Given the description of an element on the screen output the (x, y) to click on. 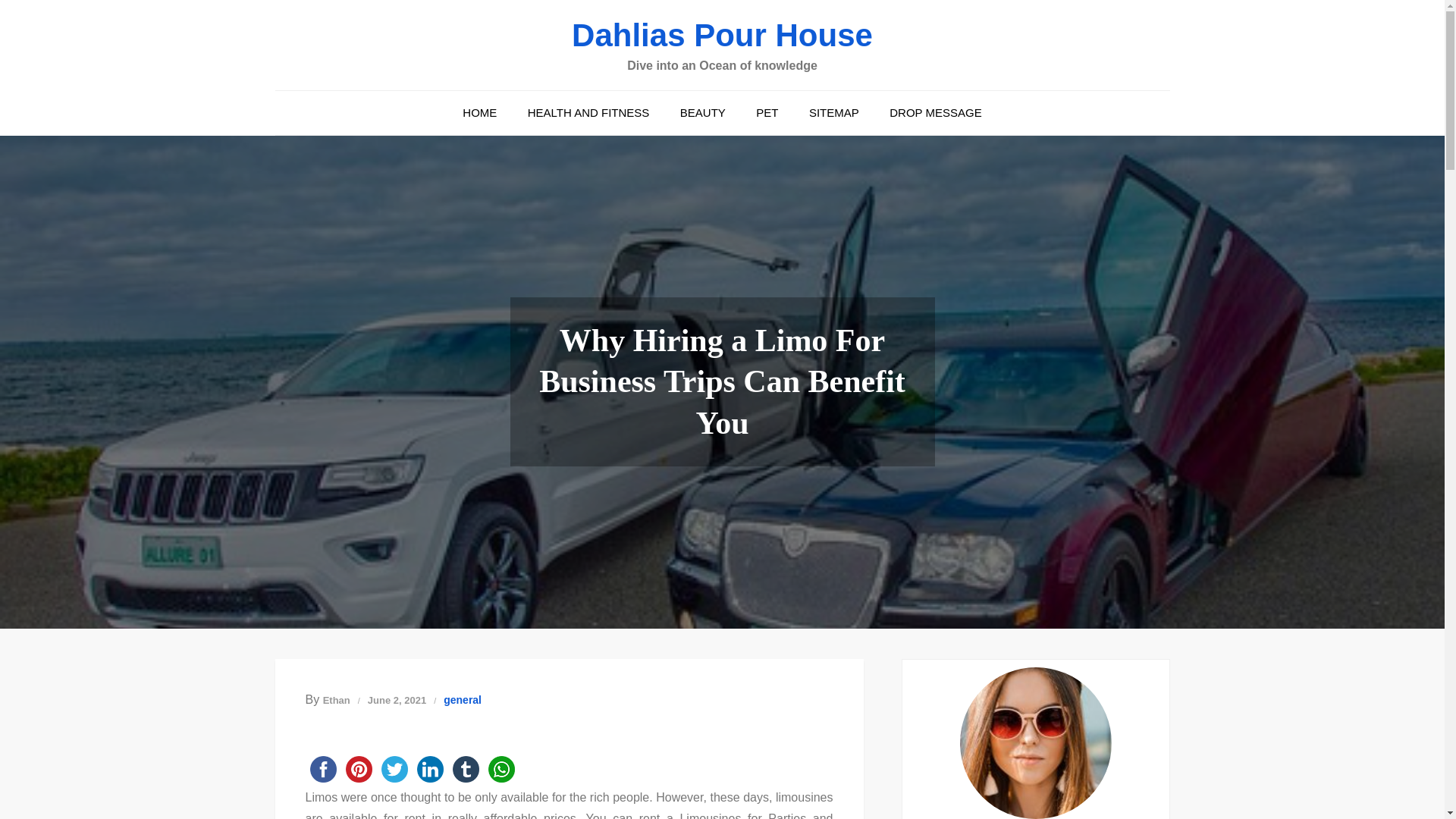
BEAUTY (702, 112)
whatsapp (501, 769)
HEALTH AND FITNESS (588, 112)
twitter (393, 769)
HOME (479, 112)
general (462, 699)
Ethan (336, 699)
pinterest (358, 769)
DROP MESSAGE (935, 112)
June 2, 2021 (397, 699)
